Given the description of an element on the screen output the (x, y) to click on. 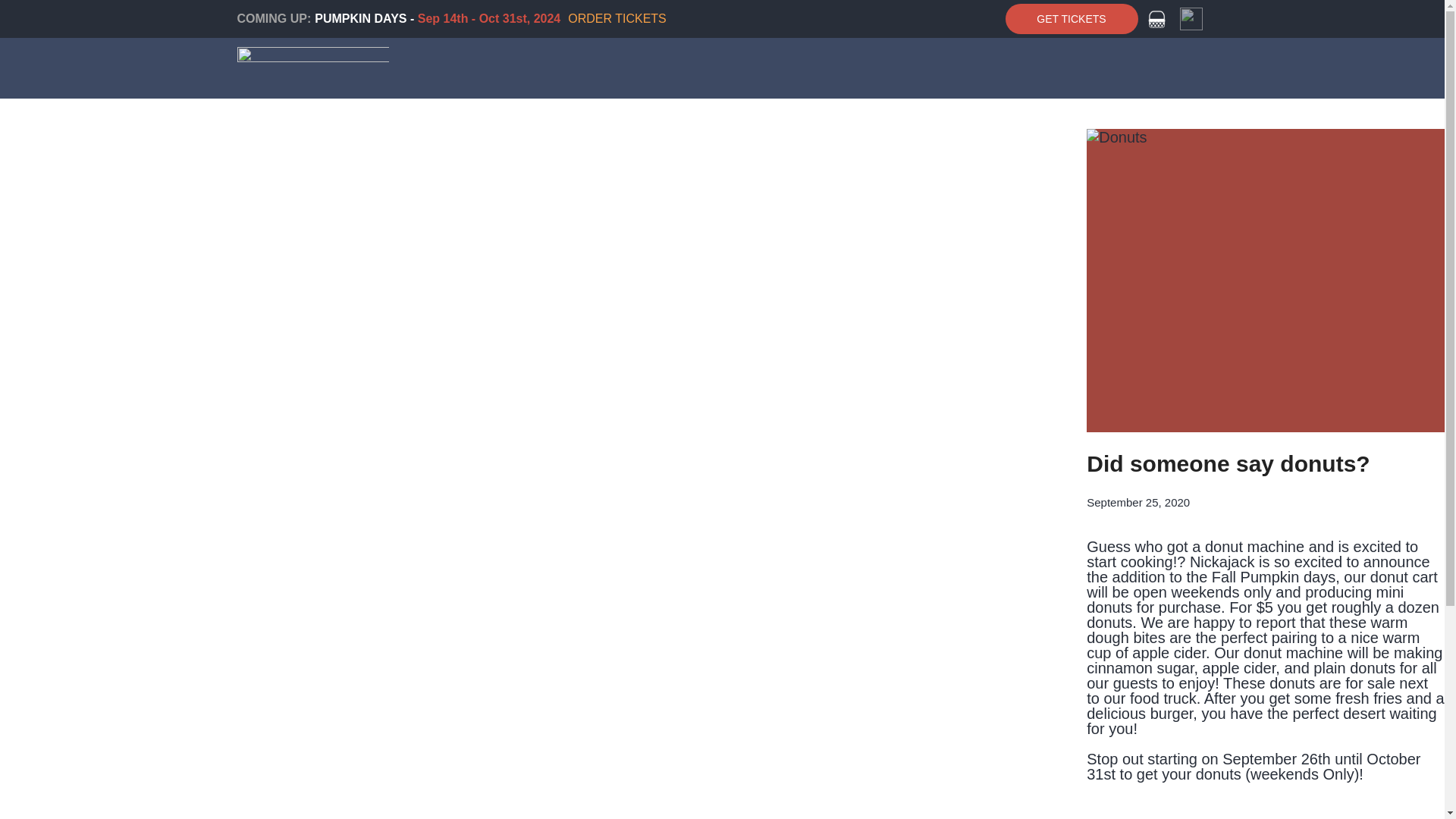
GET TICKETS (1072, 19)
ABOUT US (950, 122)
AGRICULTURE (803, 122)
ORDER TICKETS (616, 18)
FESTIVALS (710, 122)
CONTACT US (1039, 122)
